Given the description of an element on the screen output the (x, y) to click on. 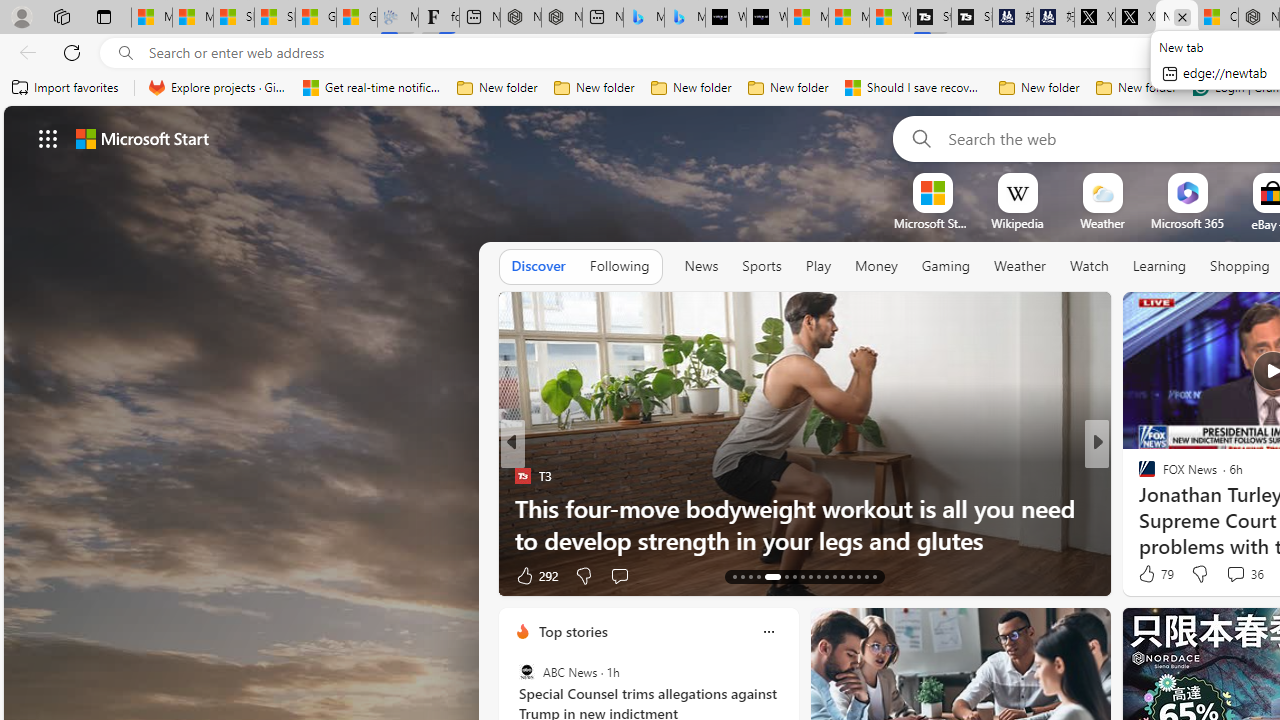
AutomationID: tab-20 (801, 576)
AutomationID: tab-21 (810, 576)
15 Like (1149, 574)
New tab (1176, 17)
